Given the description of an element on the screen output the (x, y) to click on. 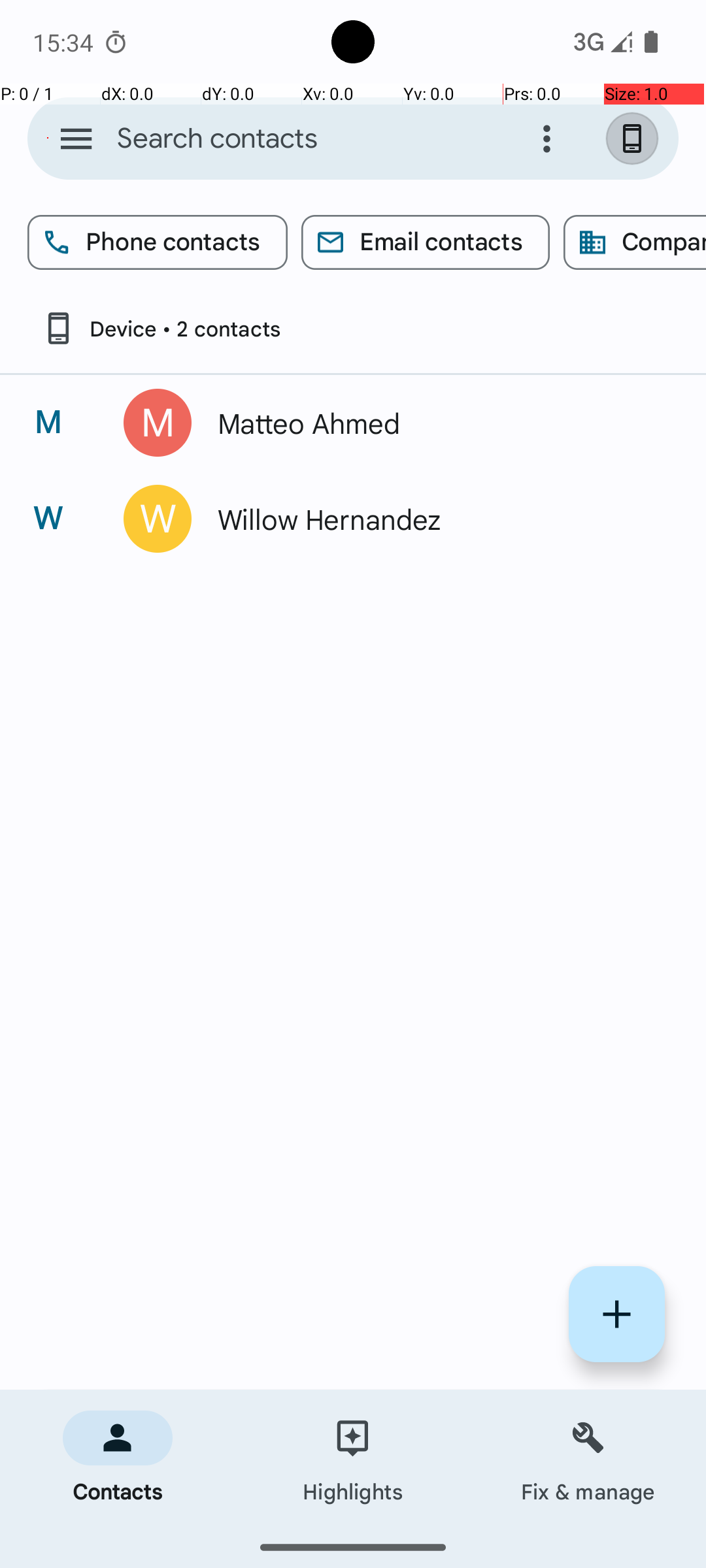
Device • 2 contacts Element type: android.widget.TextView (161, 328)
Matteo Ahmed Element type: android.widget.TextView (434, 422)
Willow Hernandez Element type: android.widget.TextView (434, 518)
